Given the description of an element on the screen output the (x, y) to click on. 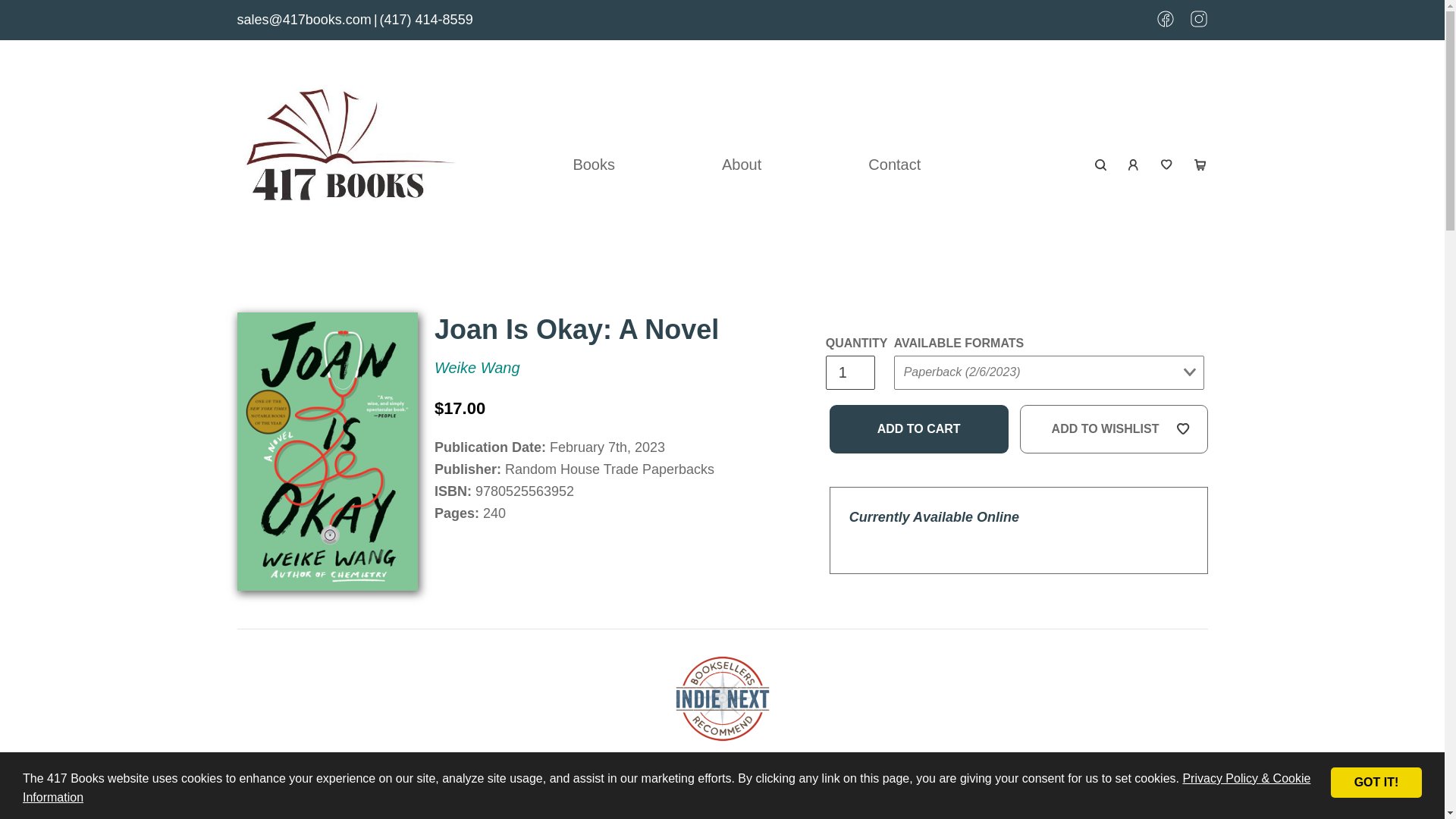
Wishlists (1166, 164)
Cart (1200, 164)
Add to cart (919, 428)
Connect with Instagram (1198, 23)
Wishlist (1166, 164)
Log in (1134, 164)
ADD TO WISHLIST (1114, 428)
SEARCH (1101, 164)
Search (1101, 164)
Submit (1188, 184)
Log in (1134, 164)
1 (850, 372)
Add to cart (919, 428)
Contact (894, 164)
Submit (922, 402)
